Given the description of an element on the screen output the (x, y) to click on. 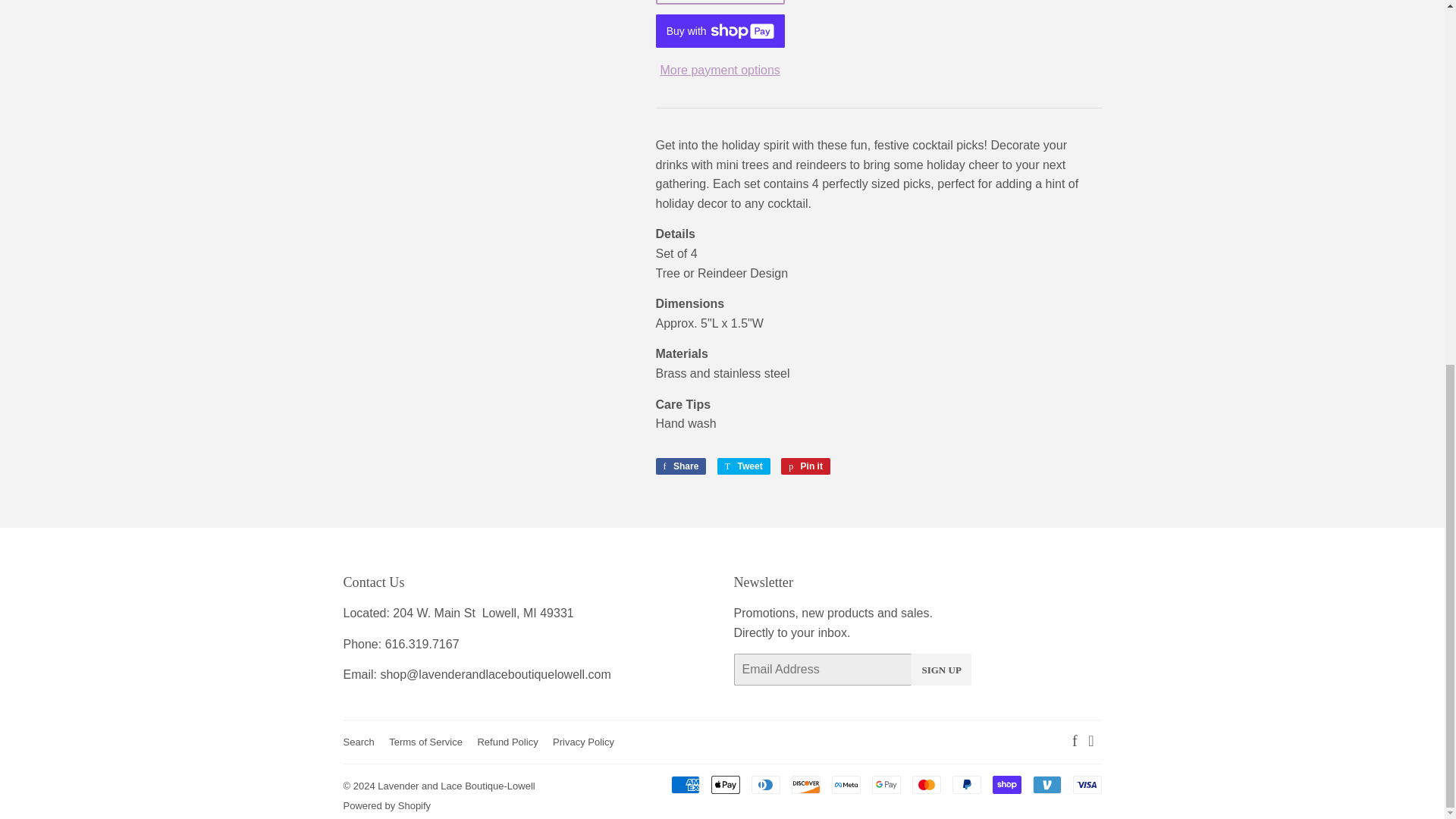
Pin on Pinterest (804, 466)
Share on Facebook (680, 466)
Shop Pay (1005, 784)
Discover (806, 784)
Mastercard (925, 784)
Diners Club (764, 784)
American Express (683, 784)
Tweet on Twitter (743, 466)
Google Pay (886, 784)
Apple Pay (725, 784)
